Given the description of an element on the screen output the (x, y) to click on. 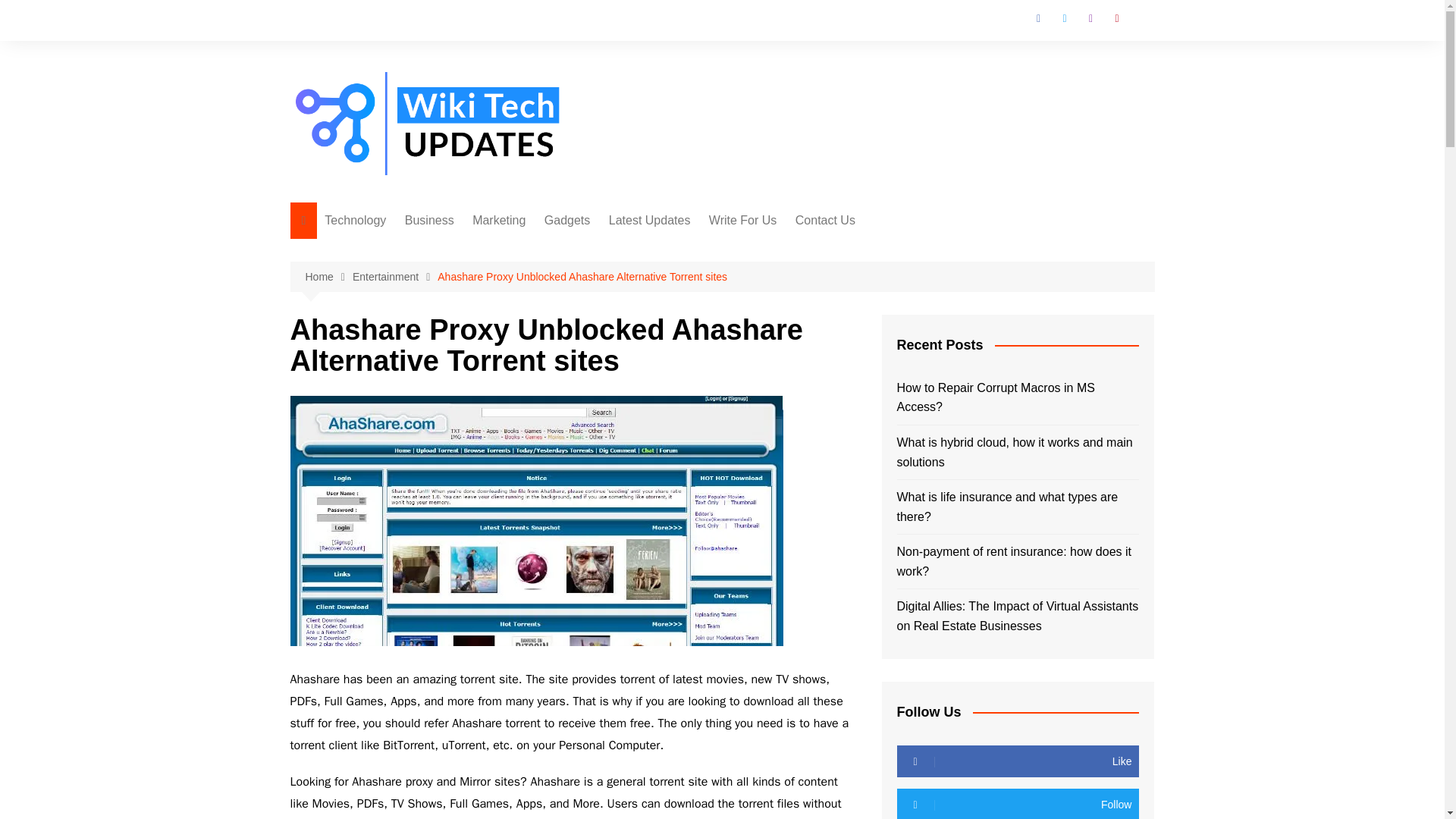
Latest Updates (649, 220)
Twitter (1063, 18)
iOS (786, 301)
Business (429, 220)
Facebook (1038, 18)
Write For Us (742, 220)
Android (786, 276)
Marketing (498, 220)
Instagram (1091, 18)
Entertainment (395, 276)
